Given the description of an element on the screen output the (x, y) to click on. 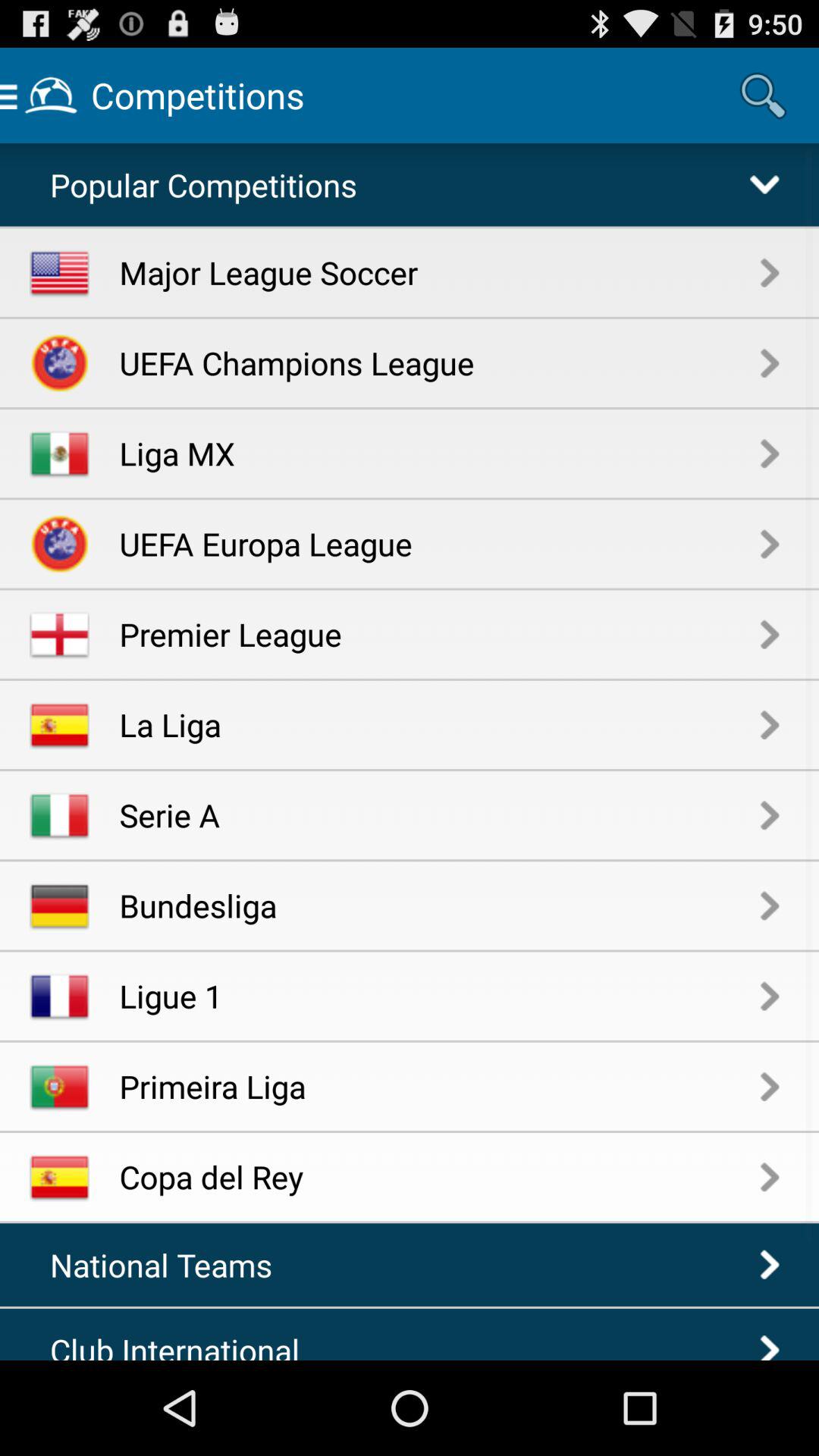
choose app next to the competitions icon (763, 95)
